Given the description of an element on the screen output the (x, y) to click on. 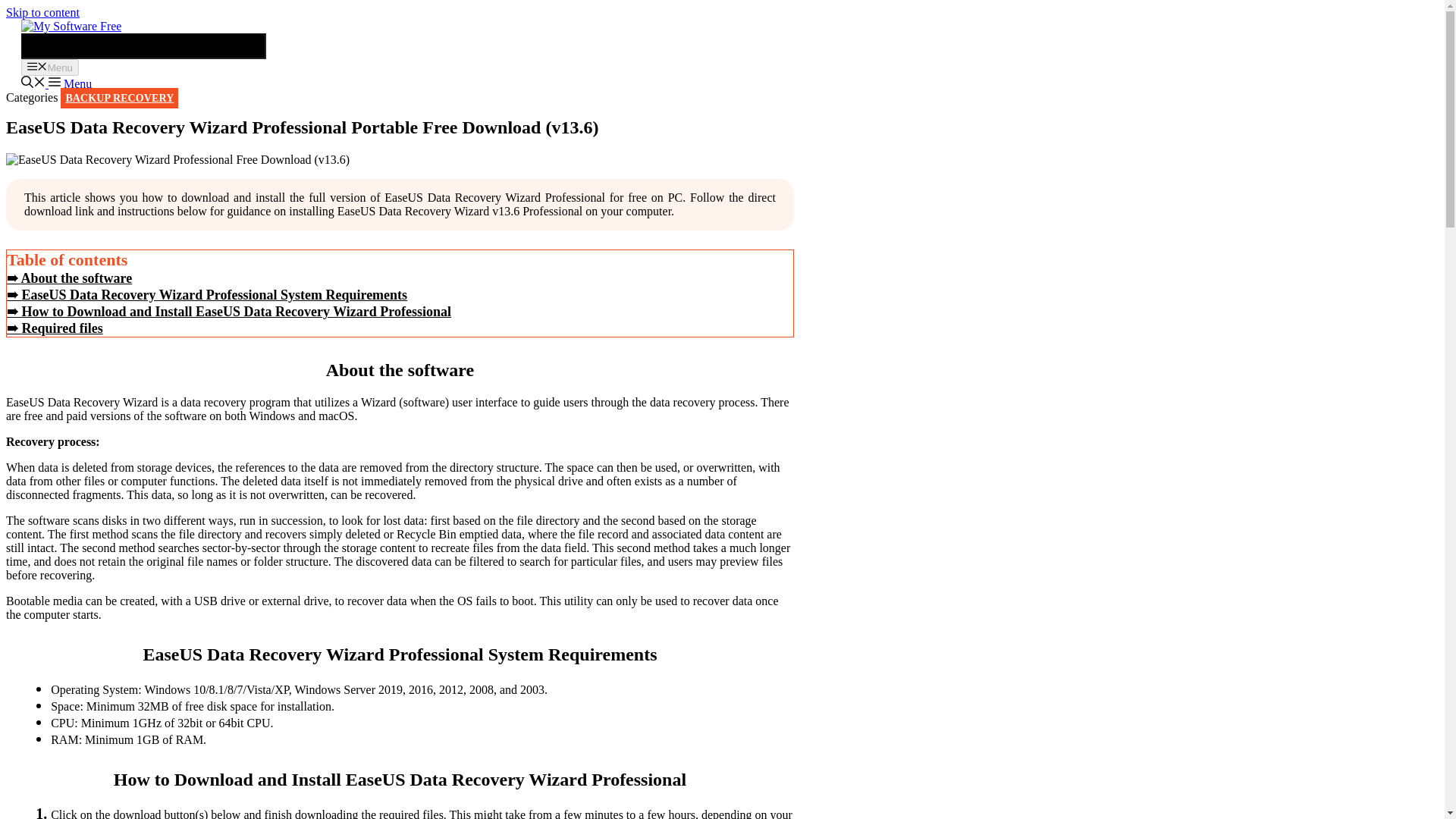
Menu (68, 83)
Skip to content (42, 11)
EaseUS Data Recovery Wizard Professional System Requirements (207, 294)
My Software Free (70, 26)
Search (143, 45)
Menu (49, 67)
BACKUP RECOVERY (119, 97)
Skip to content (42, 11)
About the software (69, 278)
Required files (55, 328)
My Software Free (70, 25)
